Given the description of an element on the screen output the (x, y) to click on. 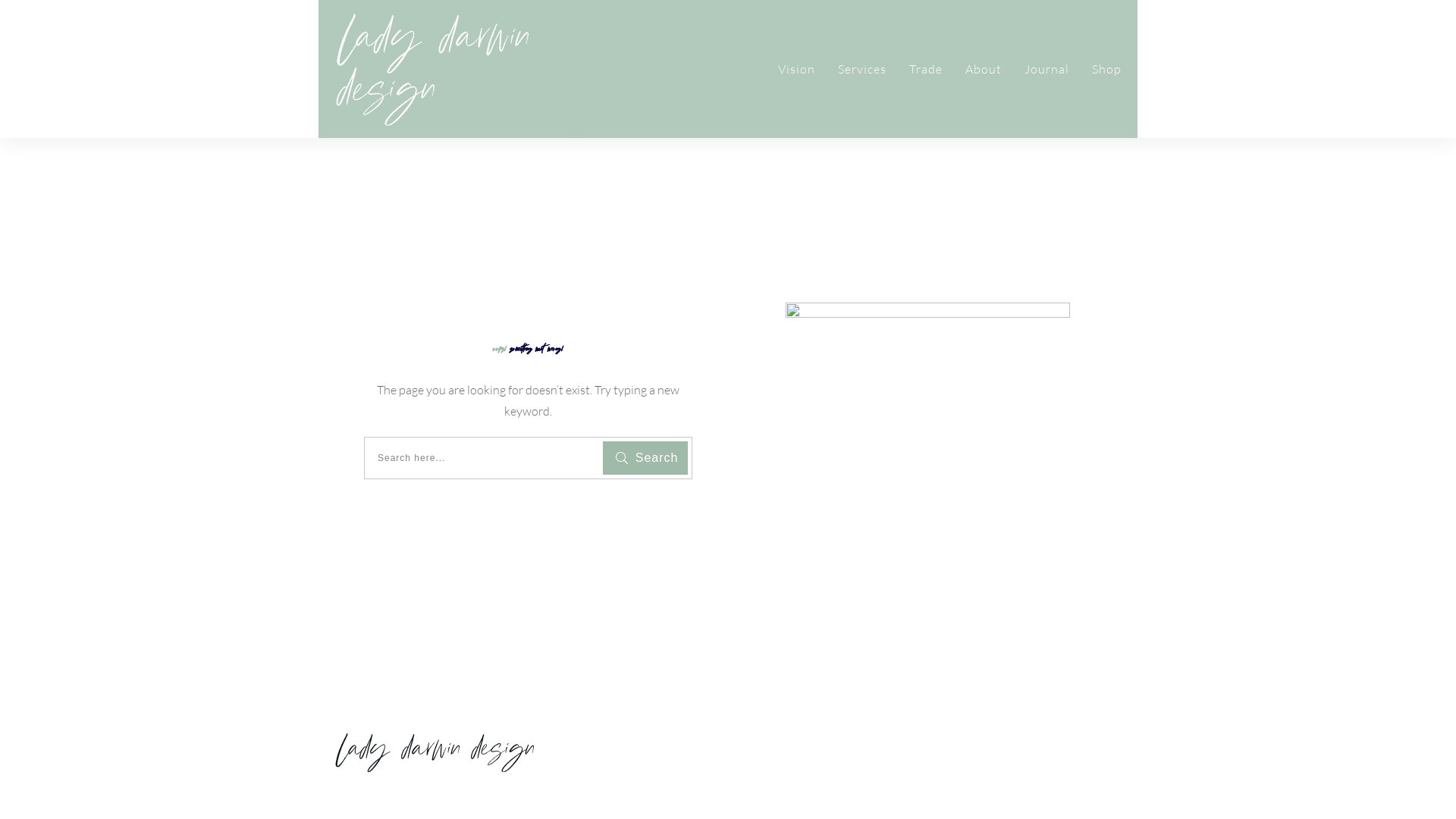
Shop Element type: text (1106, 68)
Services Element type: text (861, 68)
Search Element type: text (644, 457)
Journal Element type: text (1046, 68)
404 Element type: hover (927, 411)
Trade Element type: text (925, 68)
About Element type: text (983, 68)
Vision Element type: text (796, 68)
